Given the description of an element on the screen output the (x, y) to click on. 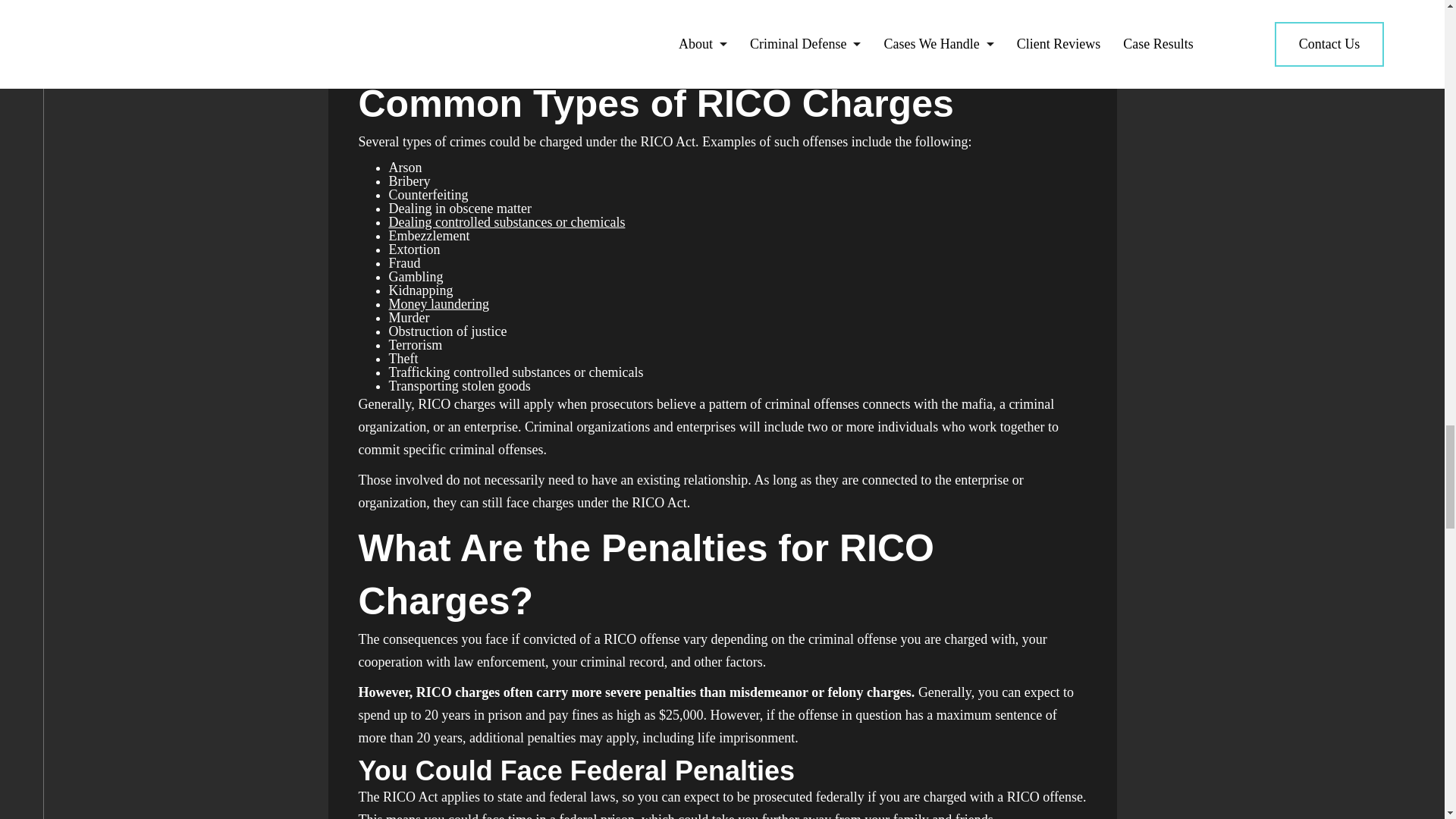
Dealing controlled substances or chemicals (506, 222)
